Given the description of an element on the screen output the (x, y) to click on. 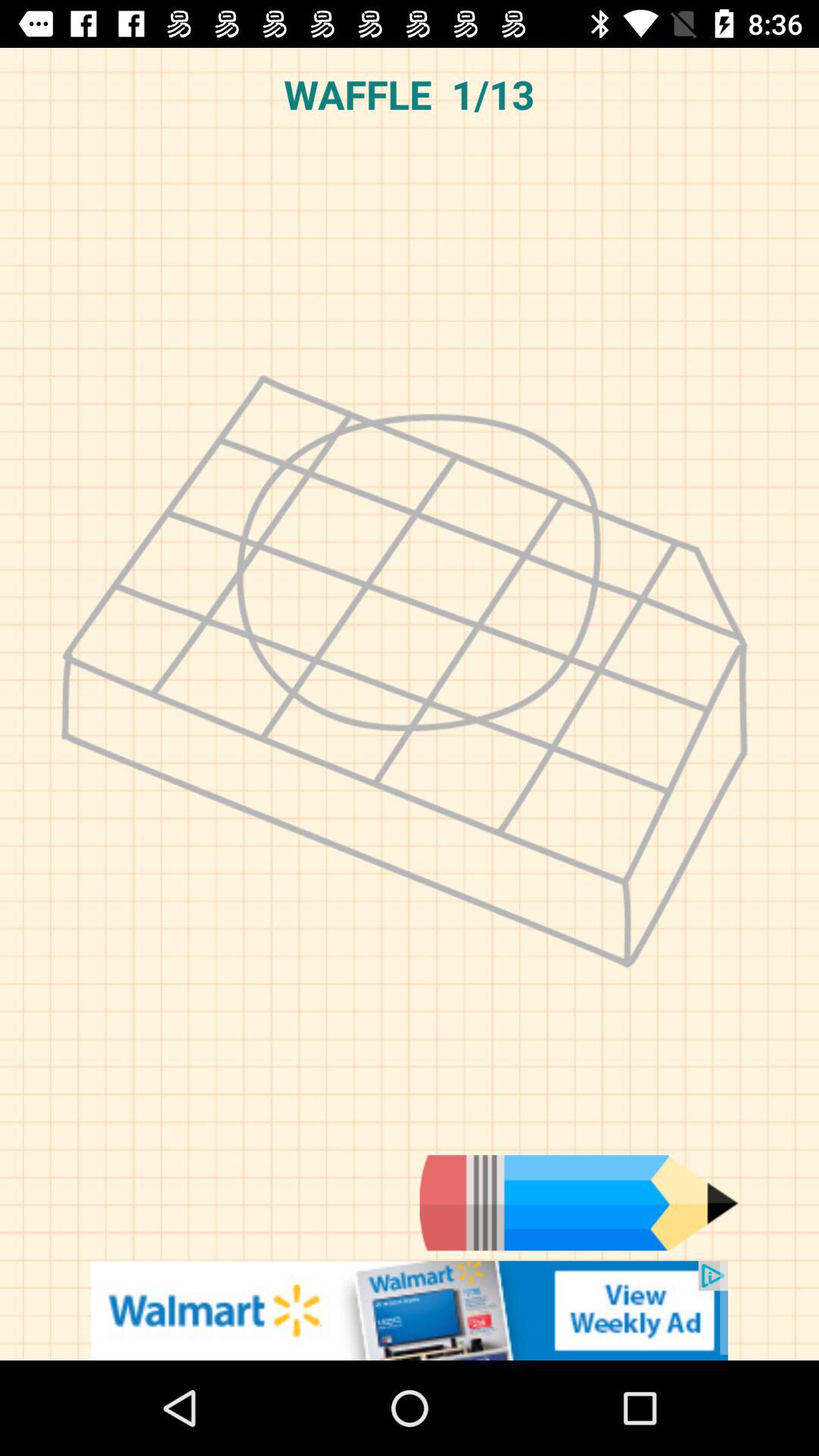
advertising bar (409, 1310)
